Given the description of an element on the screen output the (x, y) to click on. 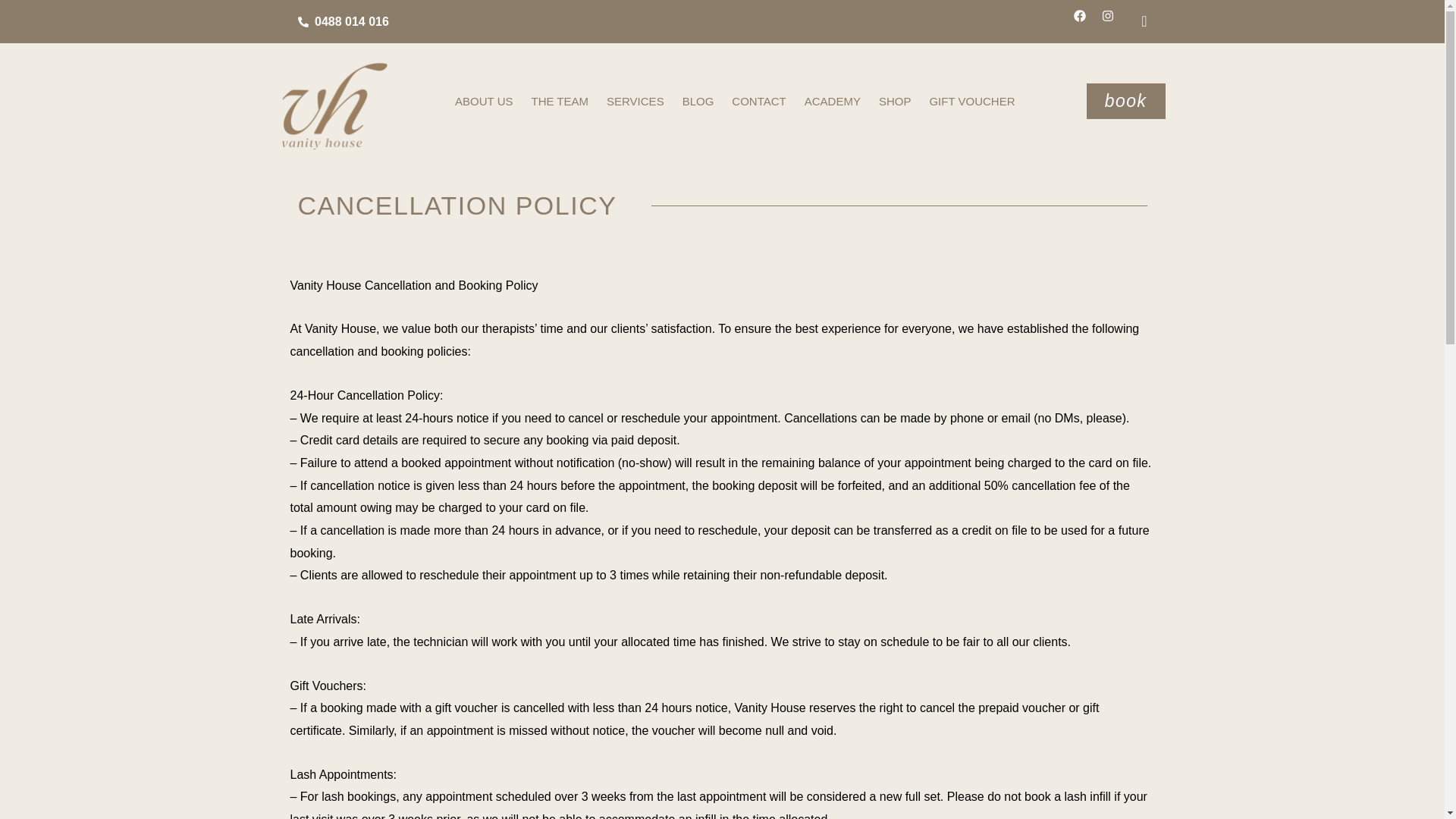
GIFT VOUCHER (971, 101)
0488 014 016 (505, 21)
SERVICES (634, 101)
CONTACT (758, 101)
THE TEAM (558, 101)
BLOG (697, 101)
ABOUT US (483, 101)
Facebook (1085, 21)
SHOP (894, 101)
ACADEMY (831, 101)
Instagram (1113, 21)
book (1126, 100)
